Given the description of an element on the screen output the (x, y) to click on. 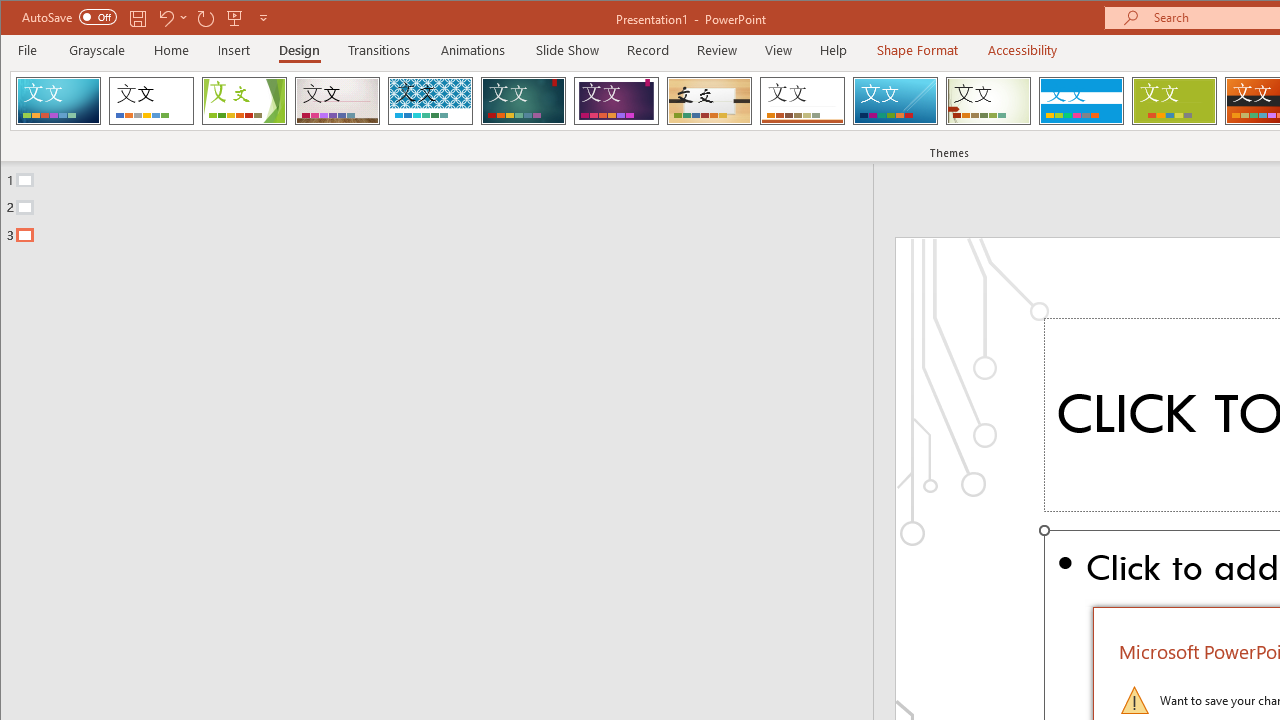
Banded (1081, 100)
Ion Boardroom (616, 100)
Retrospect (802, 100)
